Given the description of an element on the screen output the (x, y) to click on. 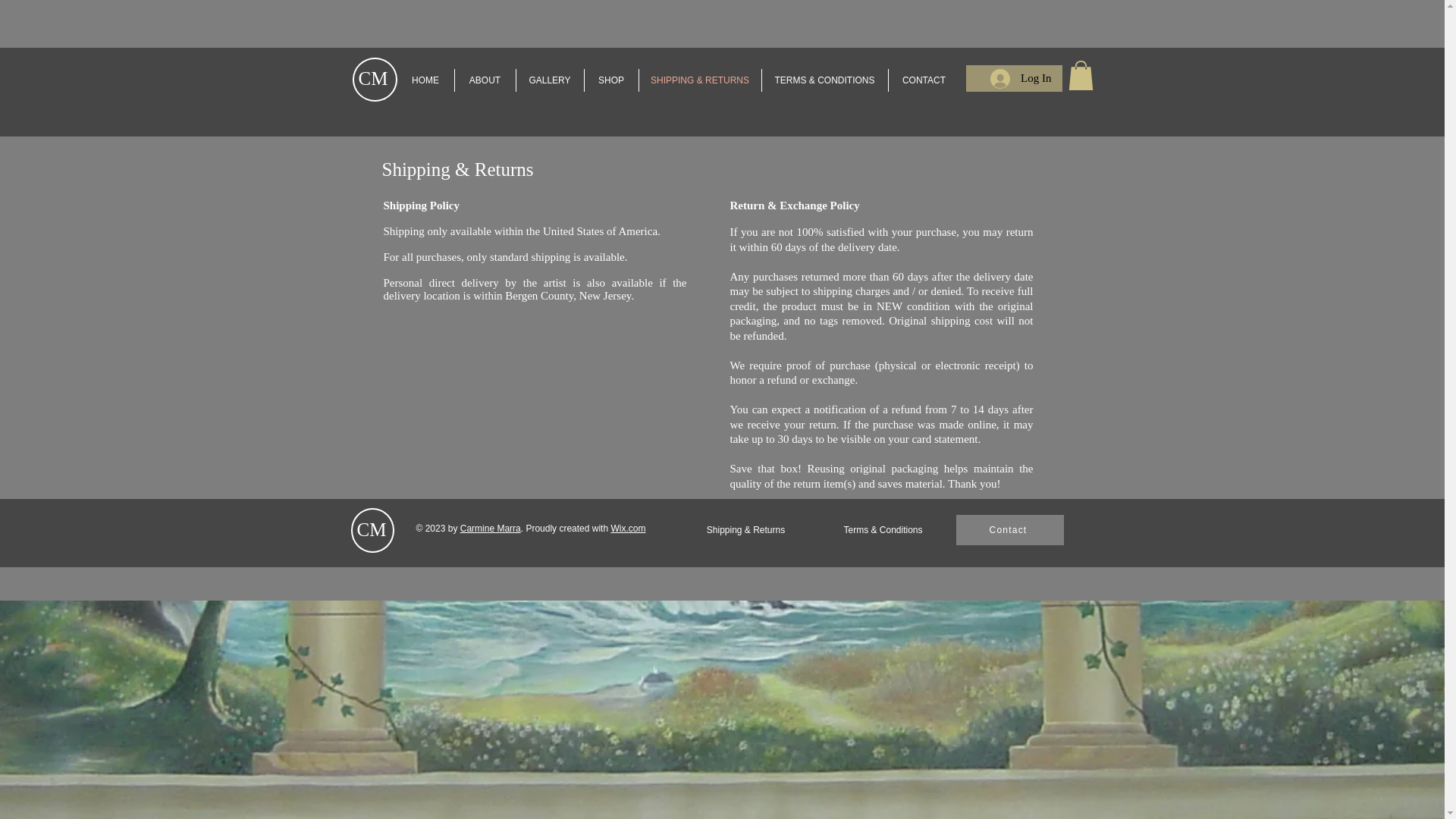
GALLERY (549, 79)
CM (370, 529)
CONTACT (923, 79)
HOME (425, 79)
Log In (1020, 77)
ABOUT (484, 79)
CM (372, 77)
SHOP (610, 79)
Contact (1008, 530)
Carmine Marra (490, 528)
Wix.com (627, 528)
